Given the description of an element on the screen output the (x, y) to click on. 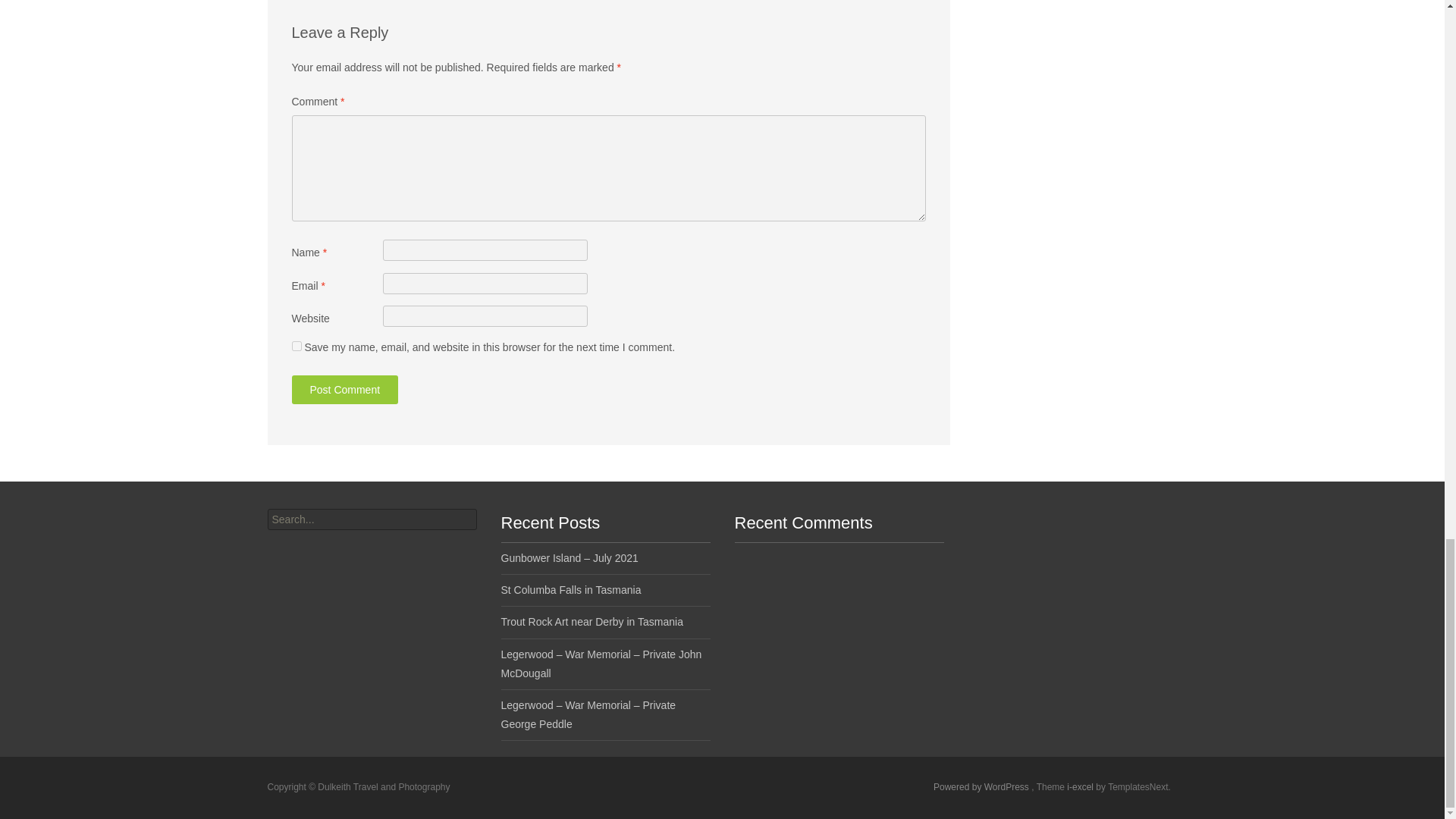
Semantic Personal Publishing Platform (981, 787)
Post Comment (344, 389)
Post Comment (344, 389)
Search for: (371, 518)
yes (296, 346)
Multipurpose Business WooCommerce Theme (1081, 787)
